Given the description of an element on the screen output the (x, y) to click on. 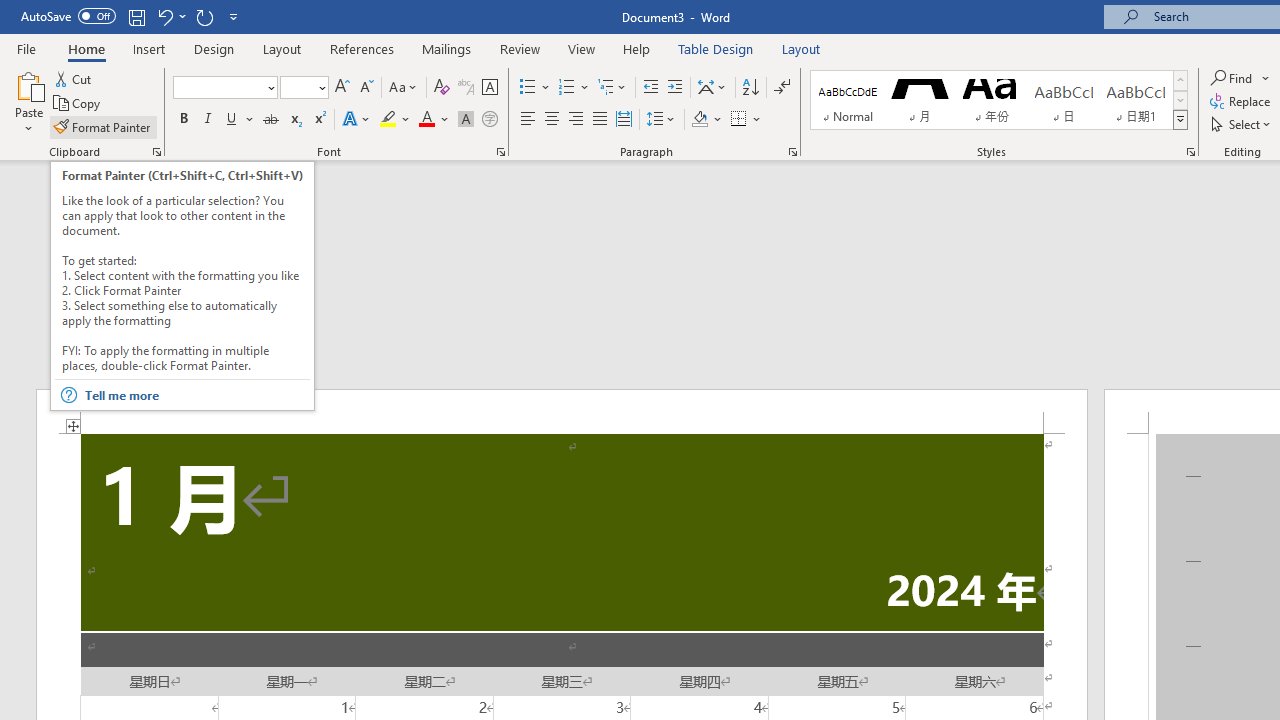
Shading (706, 119)
Multilevel List (613, 87)
Undo Apply Quick Style (164, 15)
Italic (207, 119)
Center (552, 119)
Align Right (575, 119)
Character Shading (465, 119)
Superscript (319, 119)
Text Effects and Typography (357, 119)
Distributed (623, 119)
Line and Paragraph Spacing (661, 119)
